Given the description of an element on the screen output the (x, y) to click on. 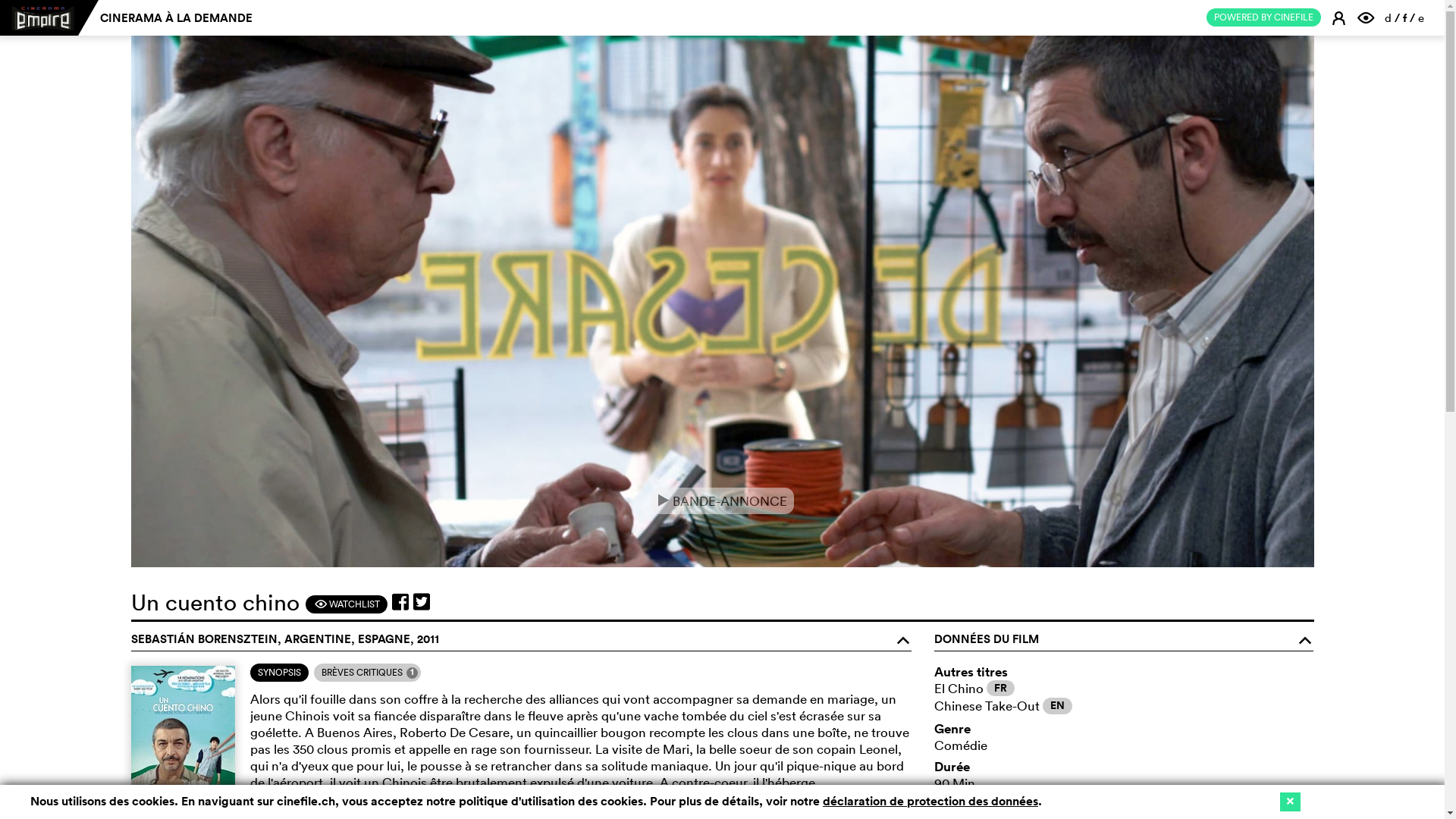
E Element type: text (1340, 17)
Partager sur twitter Element type: hover (420, 601)
F WATCHLIST Element type: text (345, 604)
Partager sur facebook Element type: hover (399, 601)
d Element type: text (1387, 17)
e BANDE-ANNONCE Element type: text (721, 500)
f Element type: text (1404, 17)
e Element type: text (1421, 17)
SYNOPSIS Element type: text (279, 671)
F Element type: text (1367, 17)
